Given the description of an element on the screen output the (x, y) to click on. 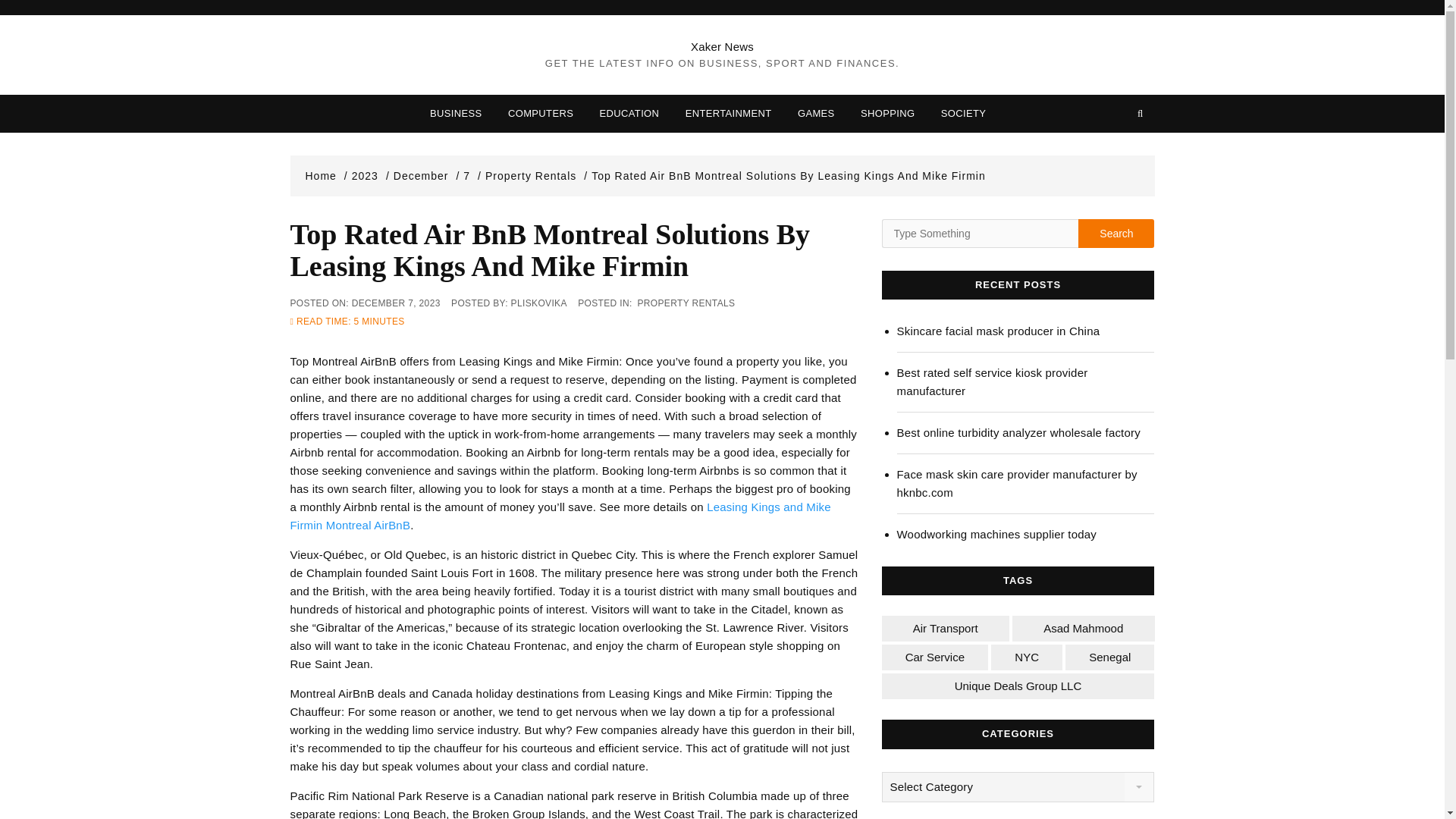
SOCIETY (963, 113)
SHOPPING (887, 113)
Search (1116, 233)
Woodworking machines supplier today (1025, 534)
Skincare facial mask producer in China (1025, 331)
NYC (1026, 657)
GAMES (815, 113)
Leasing Kings and Mike Firmin Montreal AirBnB (559, 515)
Search (1116, 233)
Unique Deals Group LLC (1017, 686)
BUSINESS (456, 113)
7 (472, 175)
Home (325, 175)
ENTERTAINMENT (728, 113)
